Given the description of an element on the screen output the (x, y) to click on. 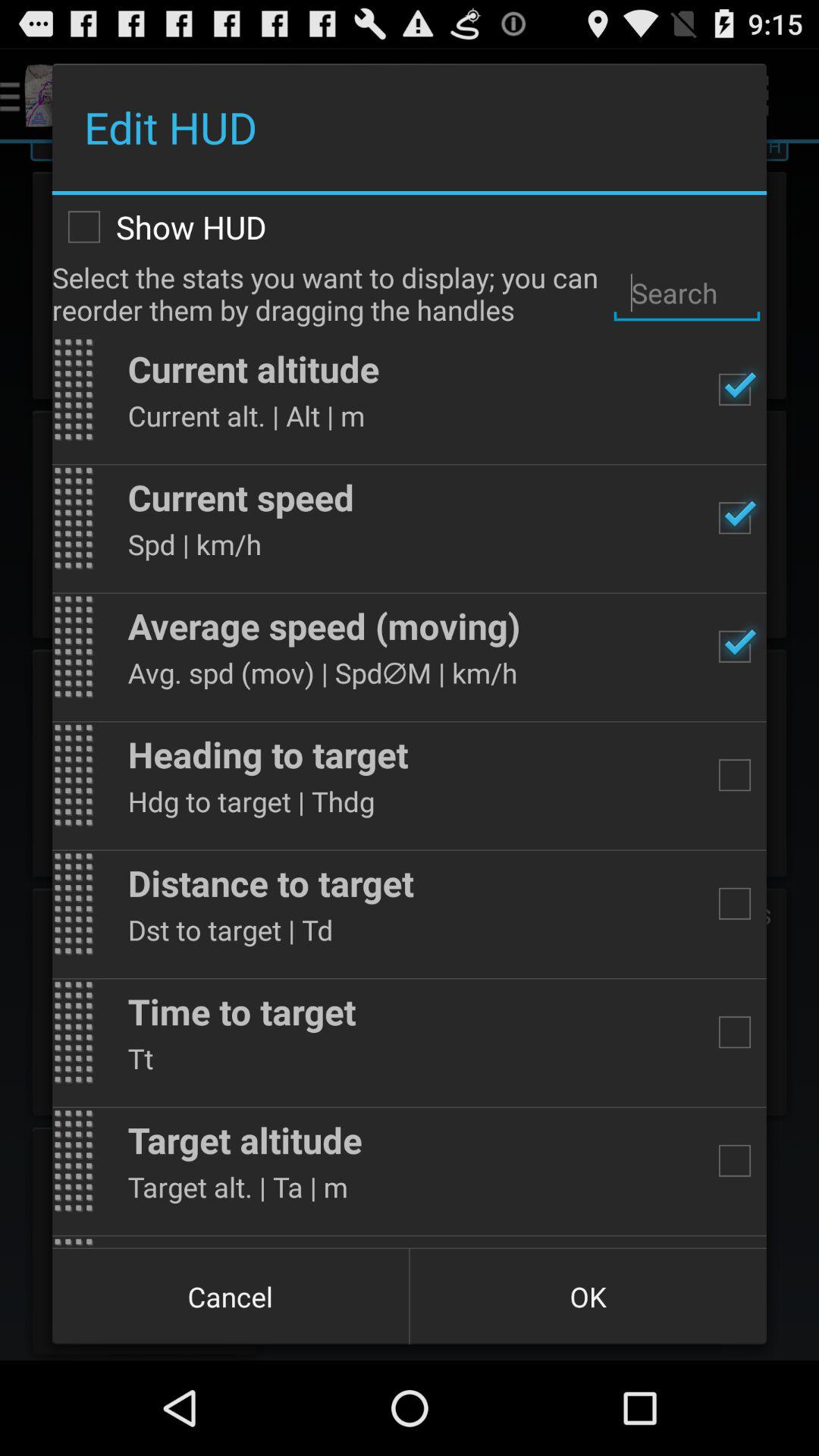
choose item to the left of the ok (230, 1296)
